Given the description of an element on the screen output the (x, y) to click on. 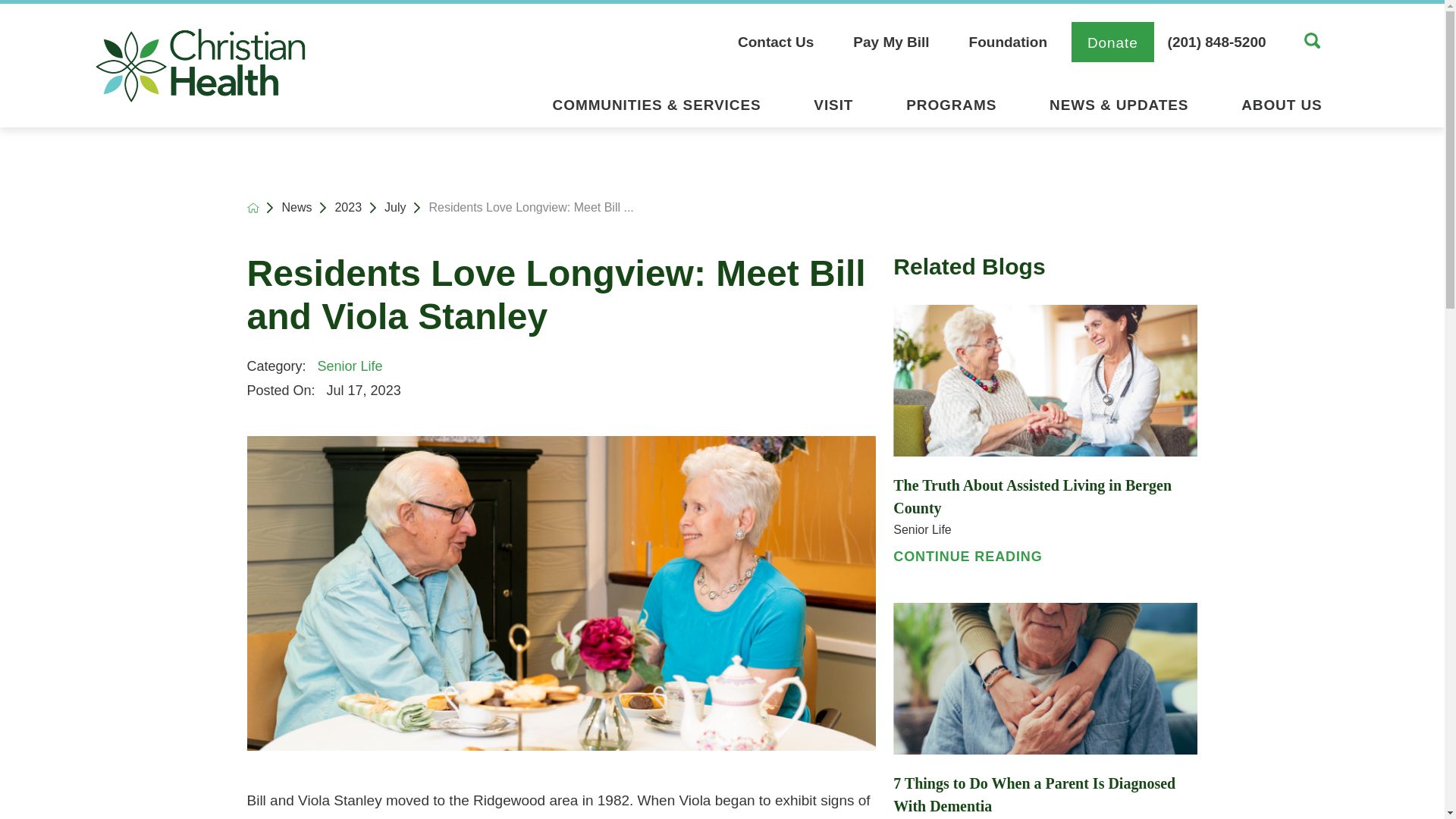
VISIT (833, 108)
Pay My Bill (890, 42)
ABOUT US (1281, 108)
Christian Health (200, 65)
PROGRAMS (951, 108)
Donate (1112, 42)
Contact Us (785, 42)
Foundation (1008, 42)
